Given the description of an element on the screen output the (x, y) to click on. 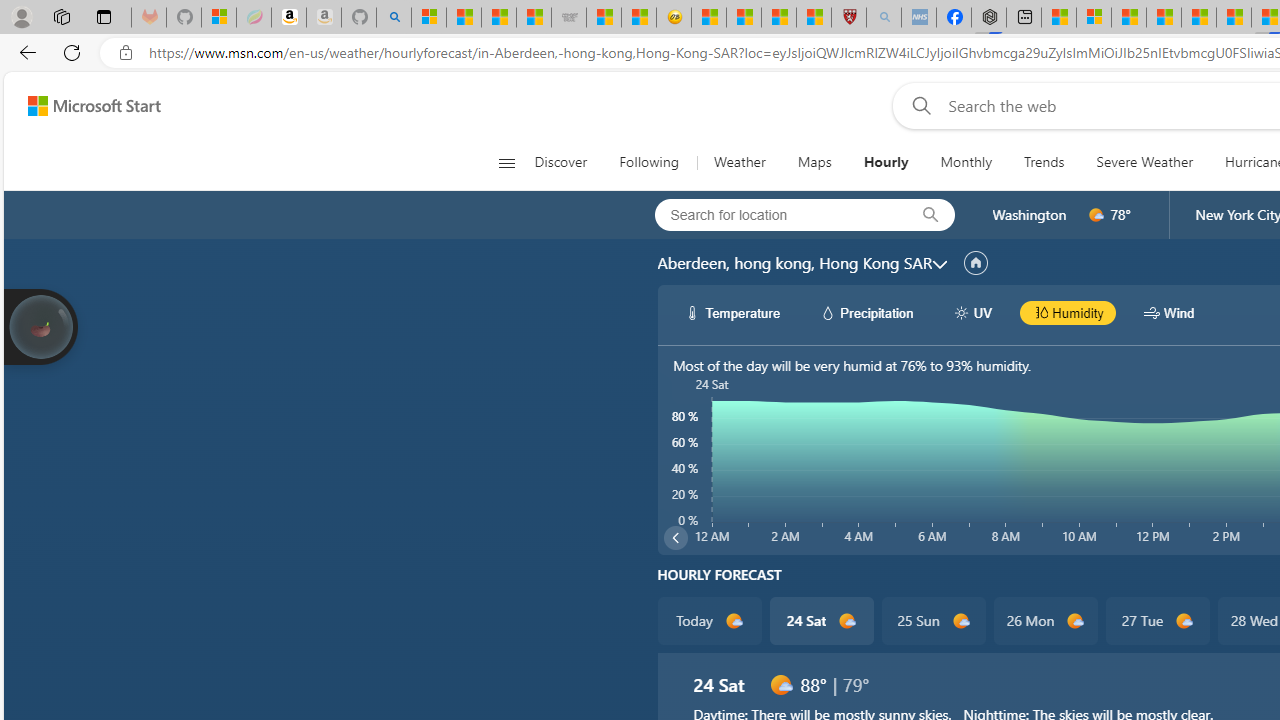
hourlyChart/windWhite (1152, 312)
Trends (1044, 162)
hourlyChart/temperatureWhite (692, 312)
25 Sun d1000 (932, 620)
